Given the description of an element on the screen output the (x, y) to click on. 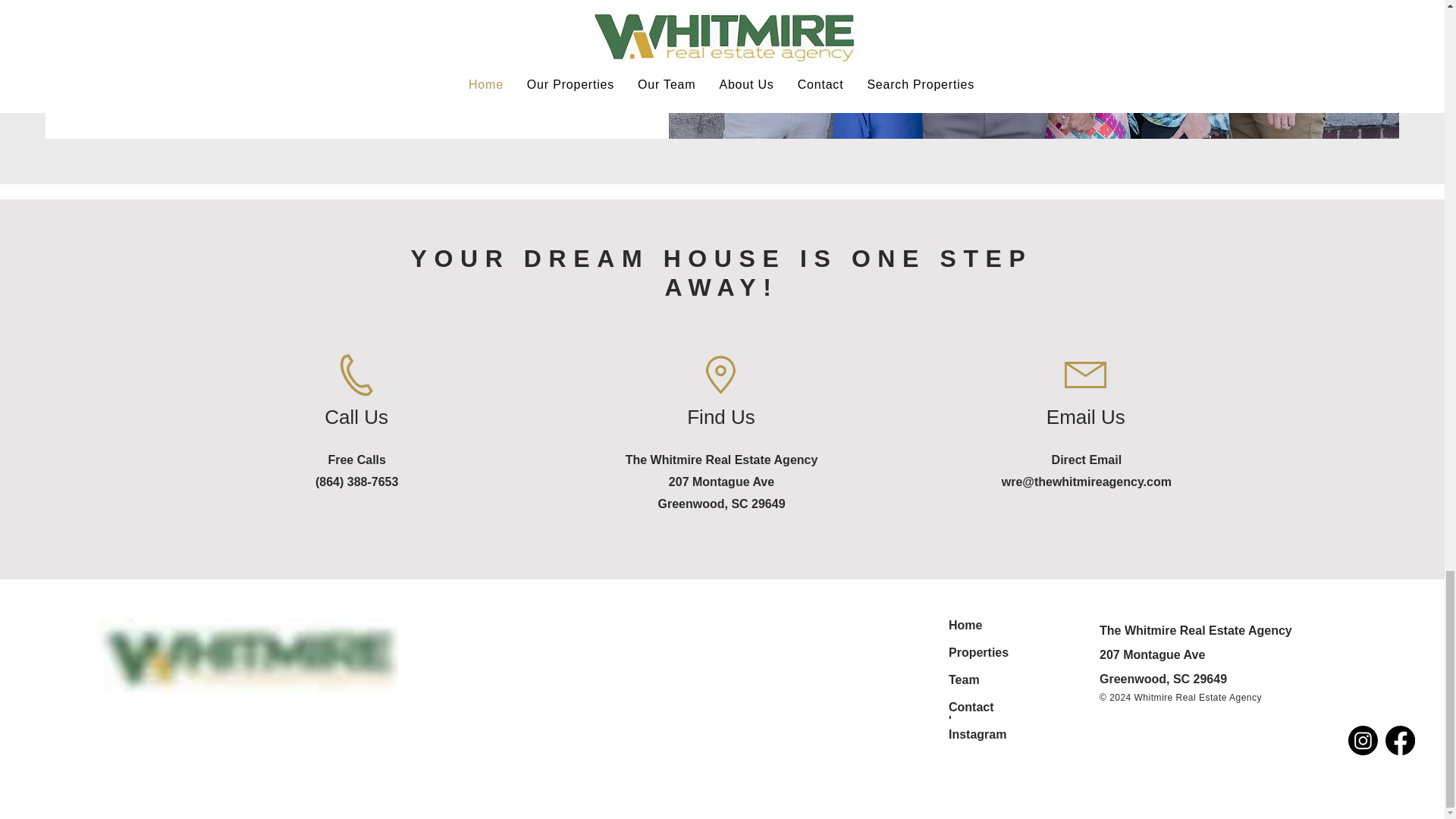
Team (964, 679)
Instagram (977, 734)
Properties (979, 652)
Contact (971, 707)
Home (965, 625)
Meet The Team (276, 47)
